Given the description of an element on the screen output the (x, y) to click on. 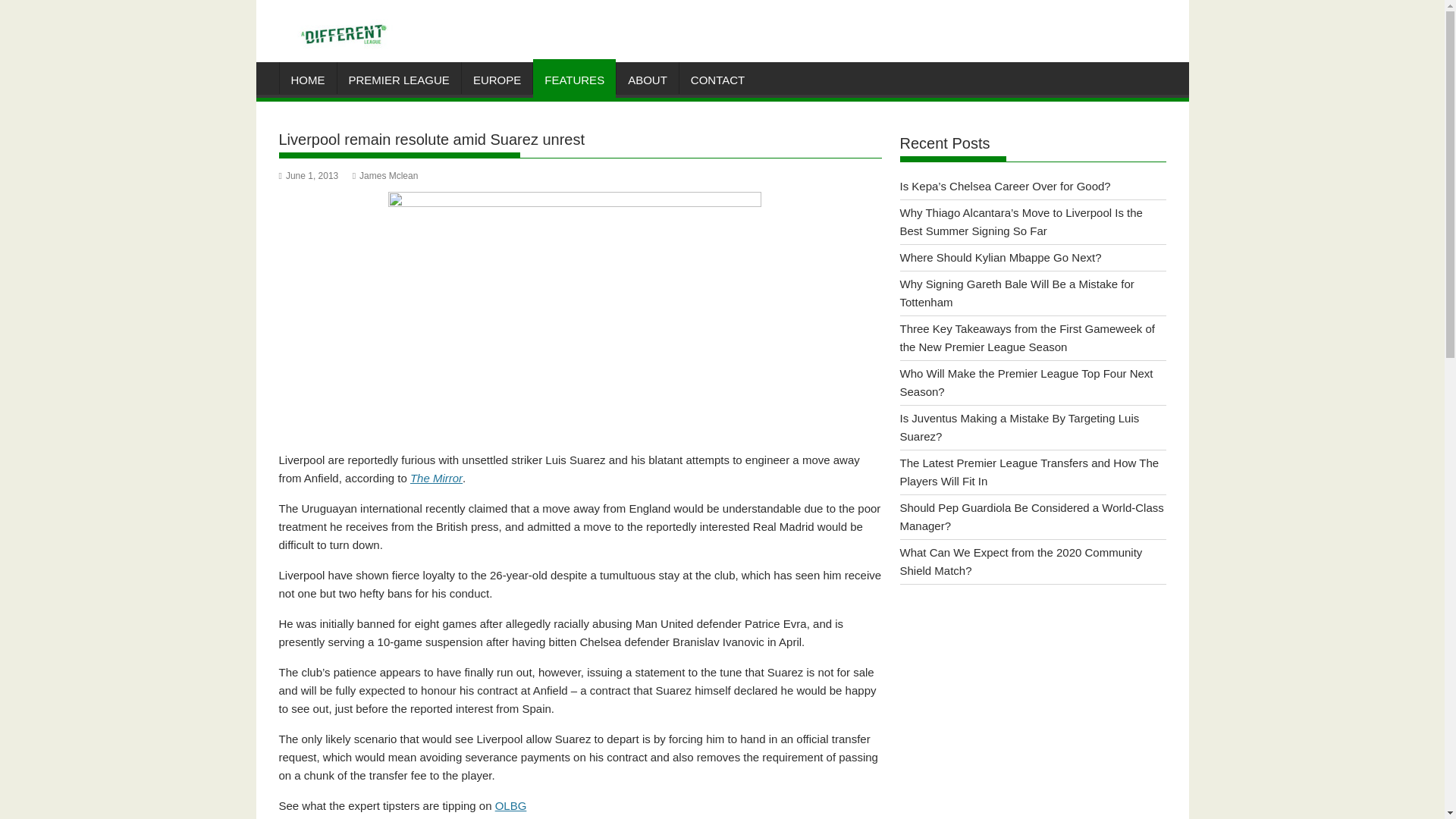
June 1, 2013 (309, 175)
ABOUT (646, 80)
James Mclean (385, 175)
The Mirror (436, 477)
EUROPE (496, 80)
PREMIER LEAGUE (398, 80)
CONTACT (717, 80)
OLBG (511, 805)
FEATURES (573, 80)
HOME (307, 80)
